Given the description of an element on the screen output the (x, y) to click on. 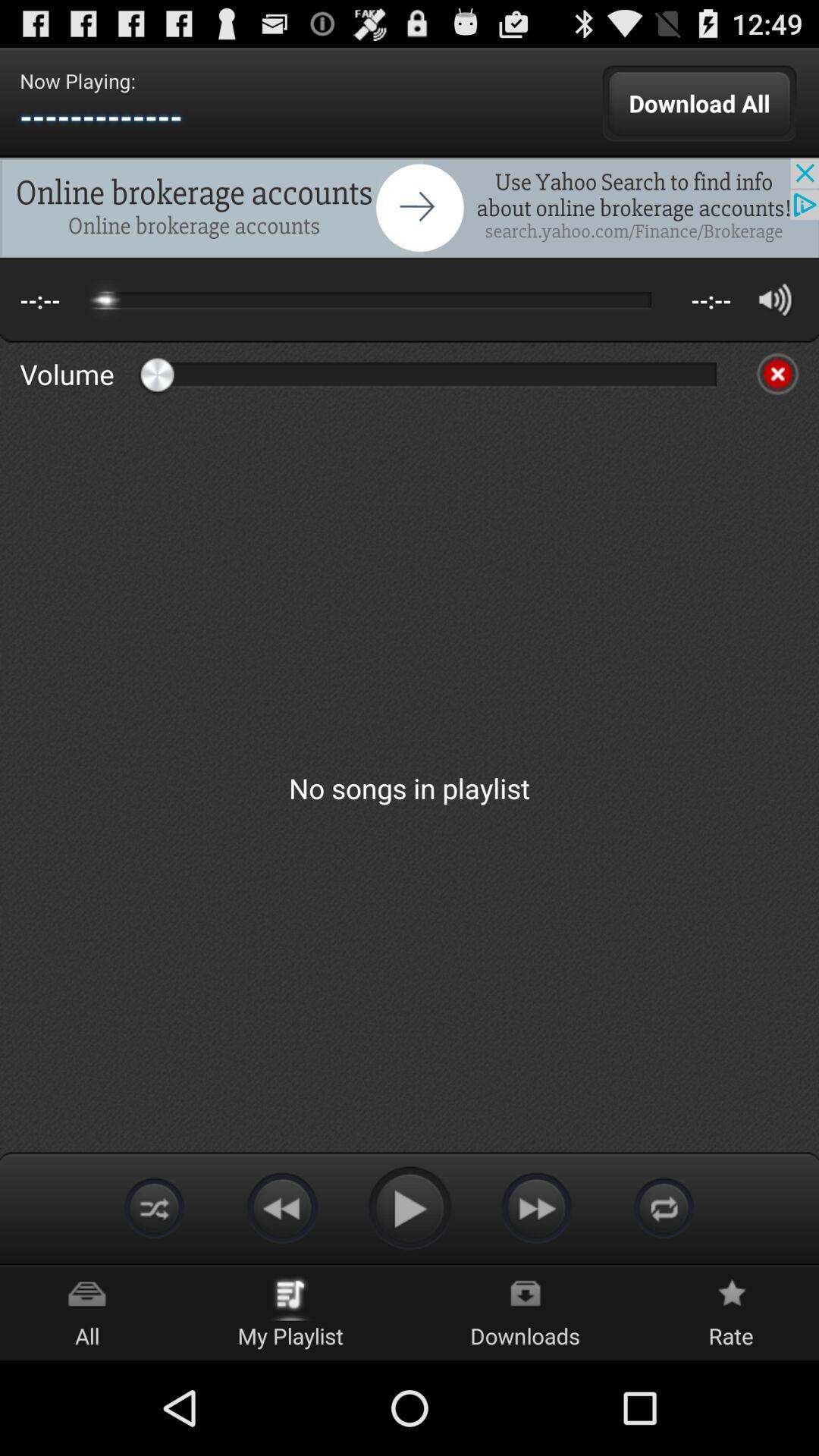
go to next (536, 1207)
